Given the description of an element on the screen output the (x, y) to click on. 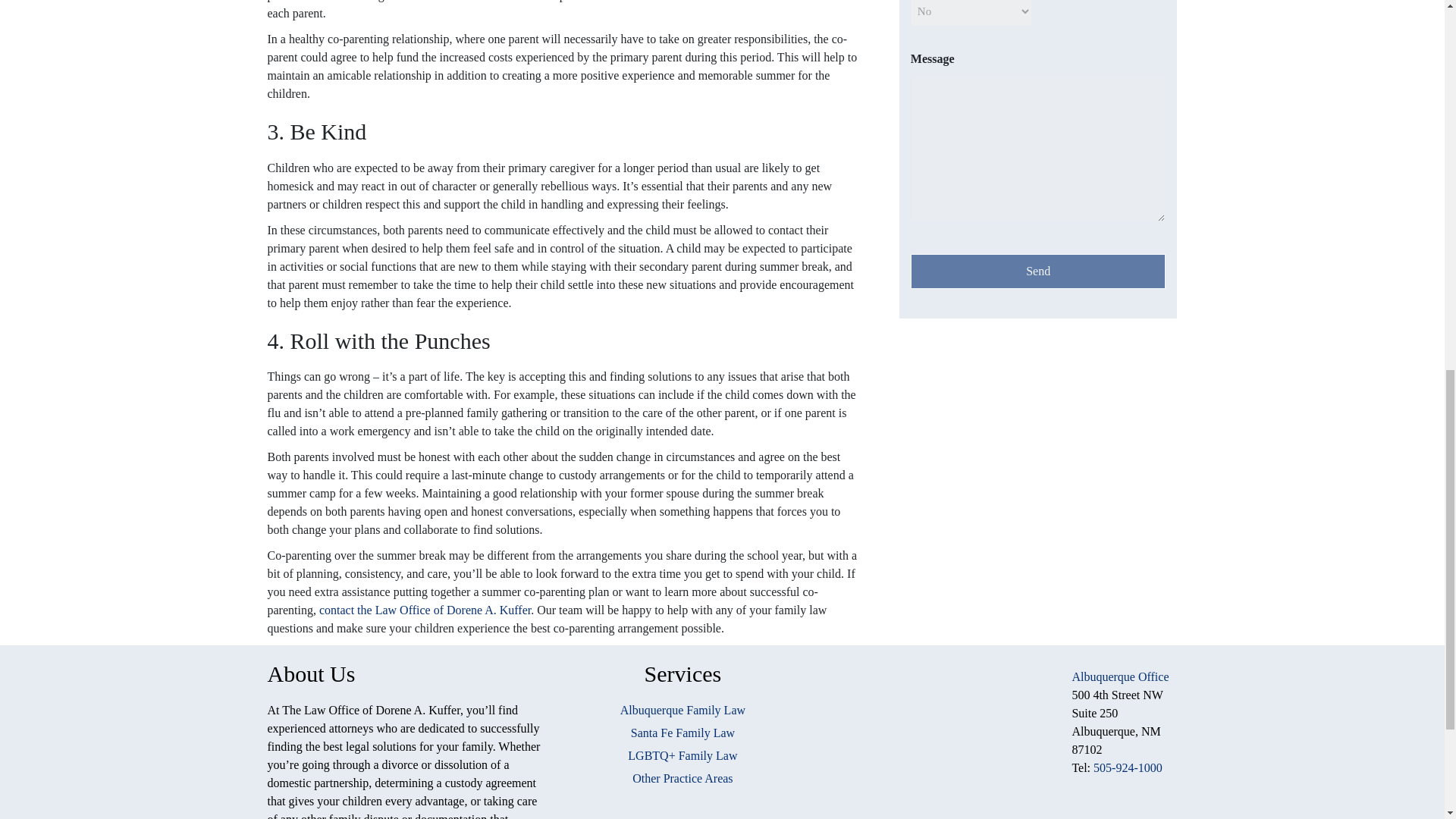
Map (935, 743)
Send (1038, 271)
